Given the description of an element on the screen output the (x, y) to click on. 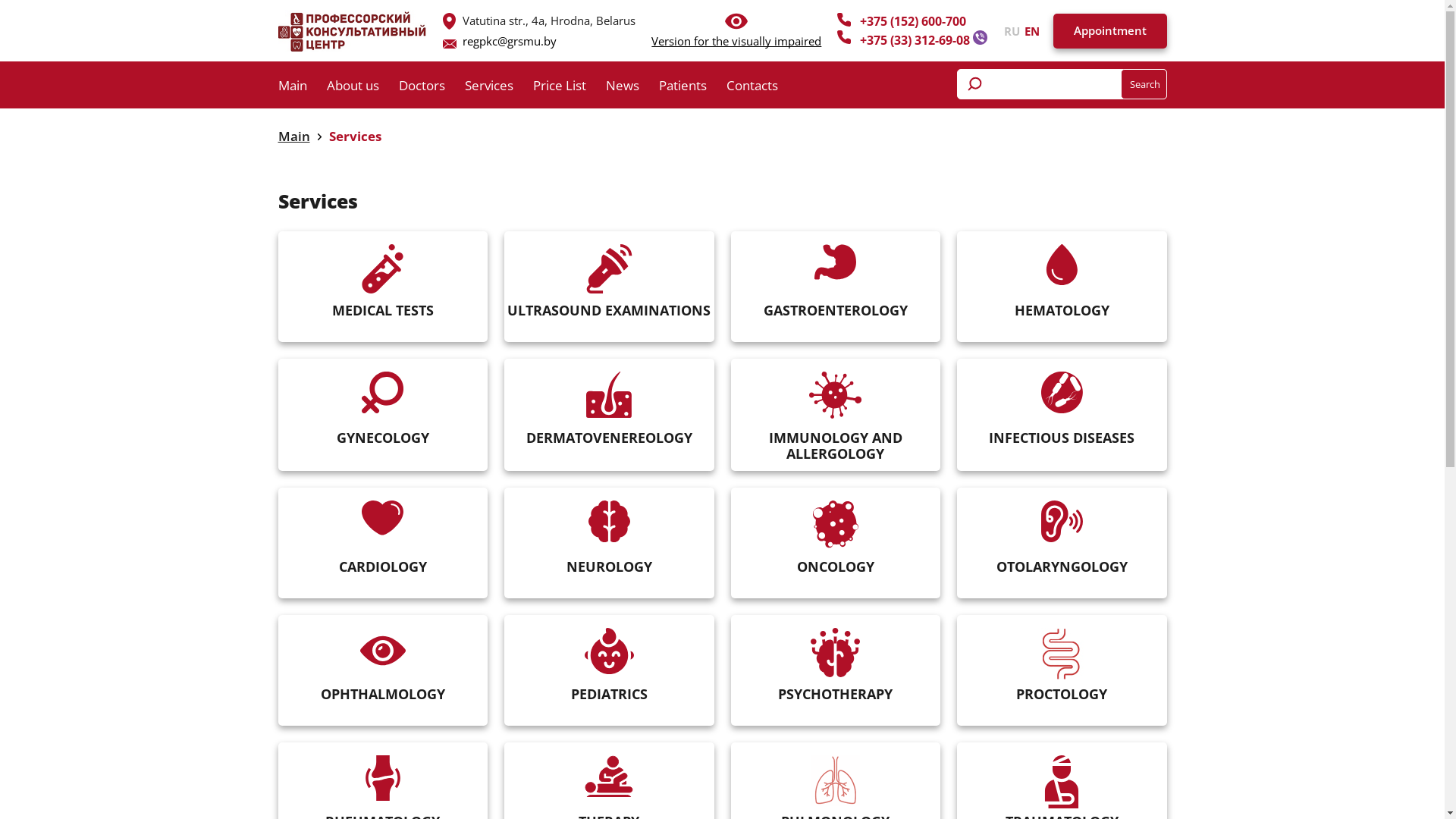
About us Element type: text (362, 87)
Otolaryngology Element type: hover (1061, 521)
GYNECOLOGY Element type: text (383, 415)
Version for the visually impaired Element type: text (736, 40)
Traumatology Element type: hover (1061, 781)
Main Element type: text (301, 87)
Price List Element type: text (568, 87)
DERMATOVENEREOLOGY Element type: text (609, 415)
PROCTOLOGY Element type: text (1061, 670)
RU Element type: text (1011, 29)
Psychotherapy Element type: hover (834, 652)
PEDIATRICS Element type: text (609, 670)
Gynecology Element type: hover (382, 392)
Doctors Element type: text (431, 87)
OPHTHALMOLOGY Element type: text (383, 670)
Ultrasound examinations Element type: hover (609, 268)
News Element type: text (631, 87)
GASTROENTEROLOGY Element type: text (835, 287)
Medical tests Element type: hover (382, 268)
INFECTIOUS DISEASES Element type: text (1061, 415)
IMMUNOLOGY AND ALLERGOLOGY Element type: text (835, 415)
regpkc@grsmu.by Element type: text (509, 40)
Cardiology Element type: hover (382, 517)
Rheumatology Element type: hover (382, 777)
PSYCHOTHERAPY Element type: text (835, 670)
Gastroenterology Element type: hover (835, 261)
+375 (152) 600-700 Element type: text (912, 20)
ULTRASOUND EXAMINATIONS Element type: text (609, 287)
Search Element type: text (1143, 84)
OTOLARYNGOLOGY Element type: text (1061, 543)
Contacts Element type: text (761, 87)
EN Element type: text (1028, 29)
+375 (33) 312-69-08 Element type: text (915, 39)
Appointment Element type: text (1109, 30)
Neurology Element type: hover (609, 521)
Therapy Element type: hover (608, 776)
Hematology Element type: hover (1061, 264)
MEDICAL TESTS Element type: text (383, 287)
Dermatovenereology Element type: hover (608, 394)
NEUROLOGY Element type: text (609, 543)
Services Element type: text (498, 87)
Pulmonology Element type: hover (834, 780)
Immunology and allergology Element type: hover (835, 394)
HEMATOLOGY Element type: text (1061, 287)
Ophthalmology Element type: hover (382, 650)
CARDIOLOGY Element type: text (383, 543)
Patients Element type: text (691, 87)
Pediatrics Element type: hover (608, 650)
Oncology Element type: hover (835, 524)
Main Element type: text (293, 135)
Services Element type: text (355, 135)
ONCOLOGY Element type: text (835, 543)
Proctology Element type: hover (1061, 653)
Infectious diseases Element type: hover (1061, 392)
